Given the description of an element on the screen output the (x, y) to click on. 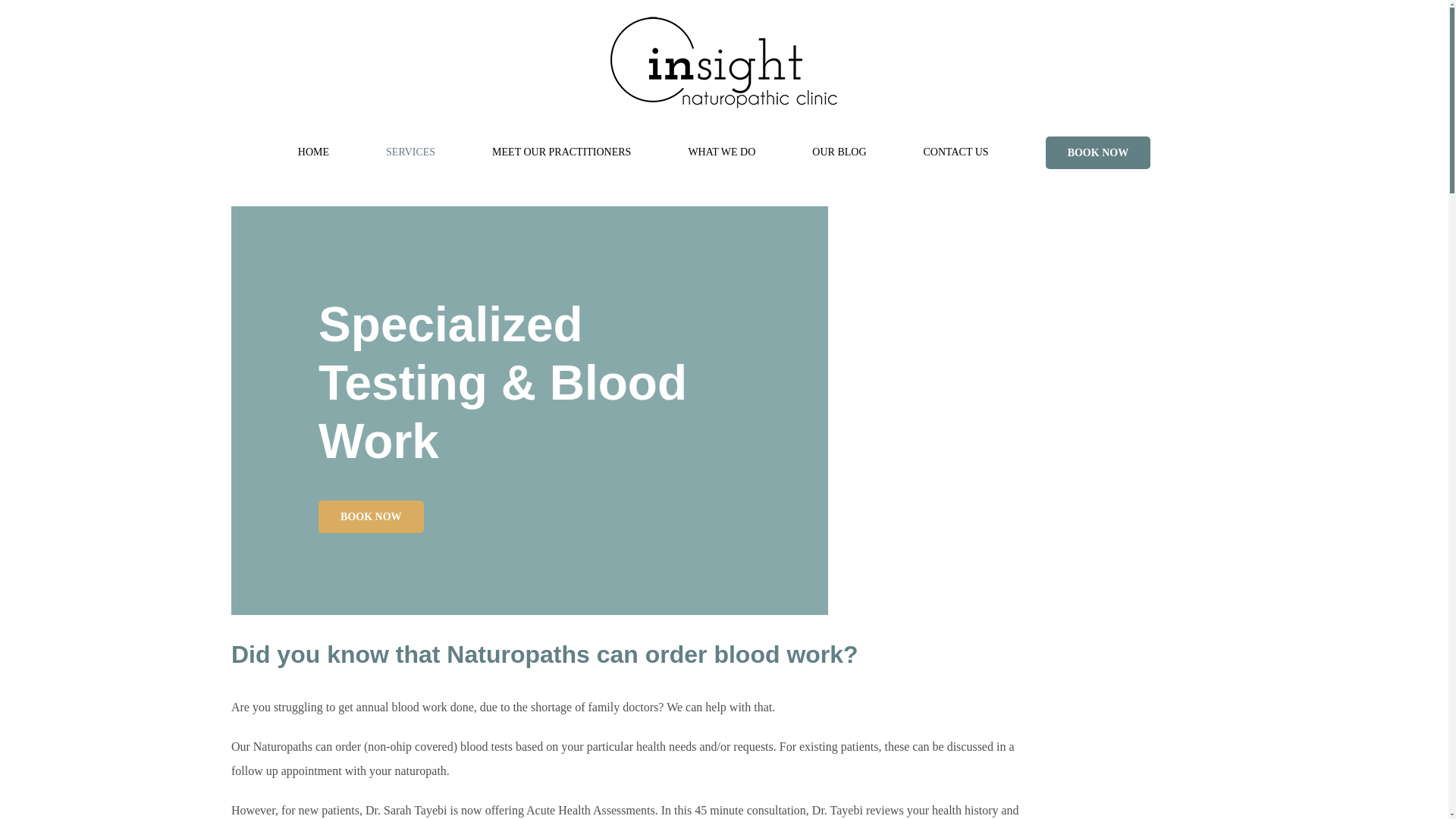
CONTACT US (955, 152)
OUR BLOG (839, 152)
BOOK NOW (1098, 152)
WHAT WE DO (721, 152)
SERVICES (410, 152)
MEET OUR PRACTITIONERS (561, 152)
